Given the description of an element on the screen output the (x, y) to click on. 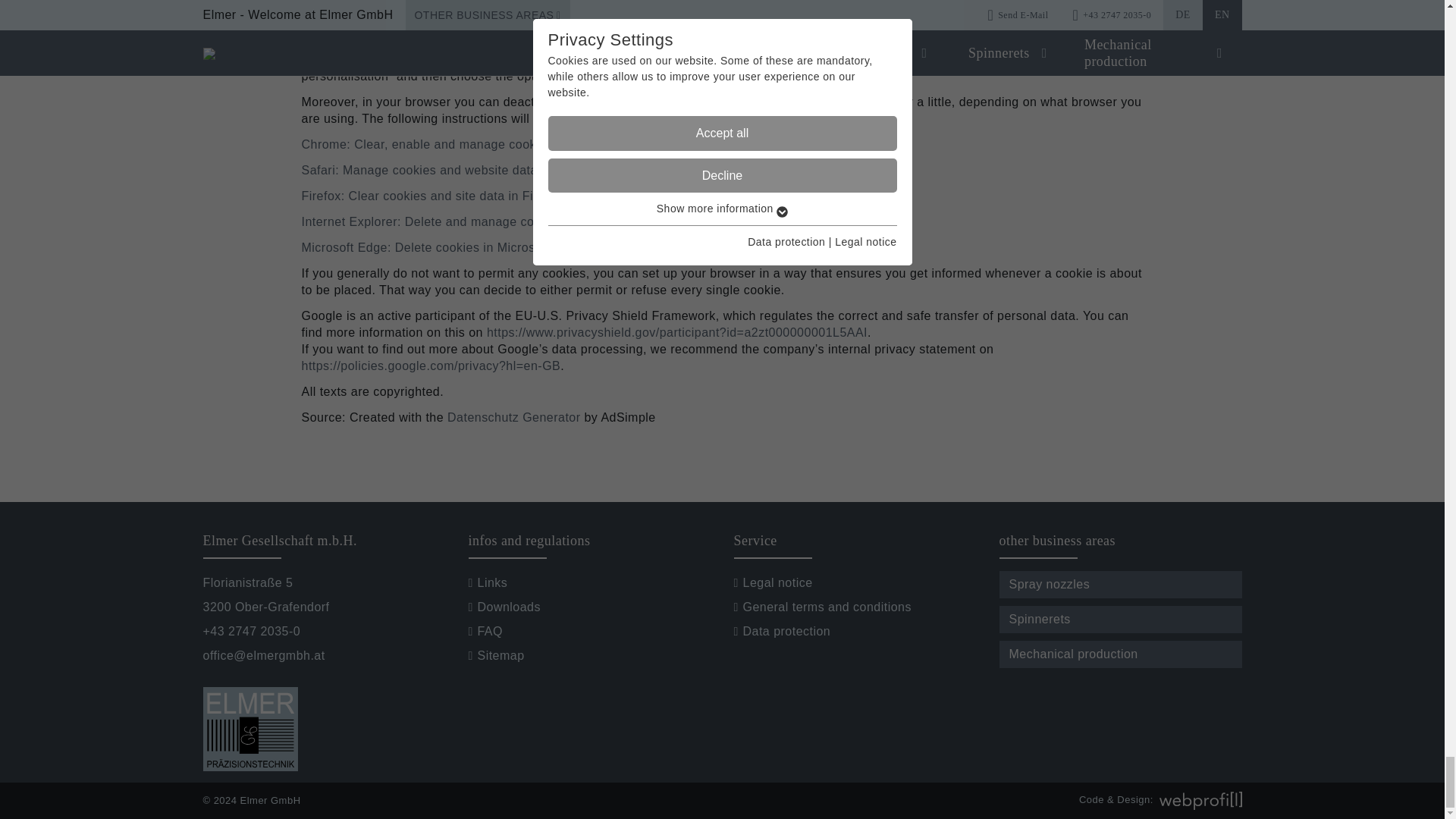
Datenschutz Generator by AdSimple (513, 417)
